Given the description of an element on the screen output the (x, y) to click on. 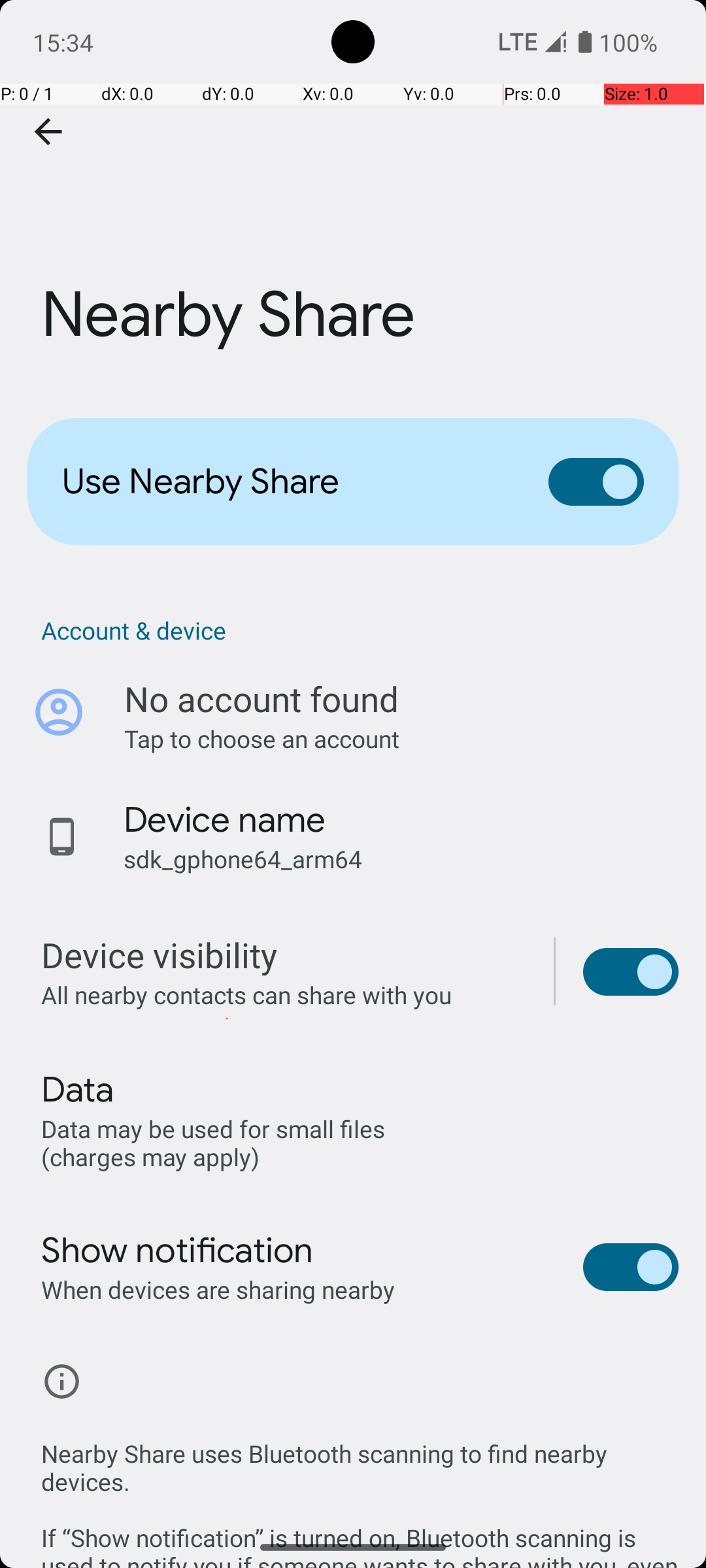
Nearby Share Element type: android.widget.FrameLayout (353, 195)
Use Nearby Share Element type: android.widget.TextView (284, 481)
Account & device Element type: android.widget.TextView (359, 629)
No account found Element type: android.widget.TextView (261, 698)
Tap to choose an account Element type: android.widget.TextView (401, 738)
Data Element type: android.widget.TextView (77, 1089)
Data may be used for small files 
(charges may apply) Element type: android.widget.TextView (215, 1142)
Show notification Element type: android.widget.TextView (177, 1250)
When devices are sharing nearby Element type: android.widget.TextView (218, 1289)
Nearby Share uses Bluetooth scanning to find nearby devices. 

If “Show notification” is turned on, Bluetooth scanning is used to notify you if someone wants to share with you, even when Nearby Share is turned off. Element type: android.widget.TextView (359, 1488)
All nearby contacts can share with you Element type: android.widget.TextView (283, 994)
